Given the description of an element on the screen output the (x, y) to click on. 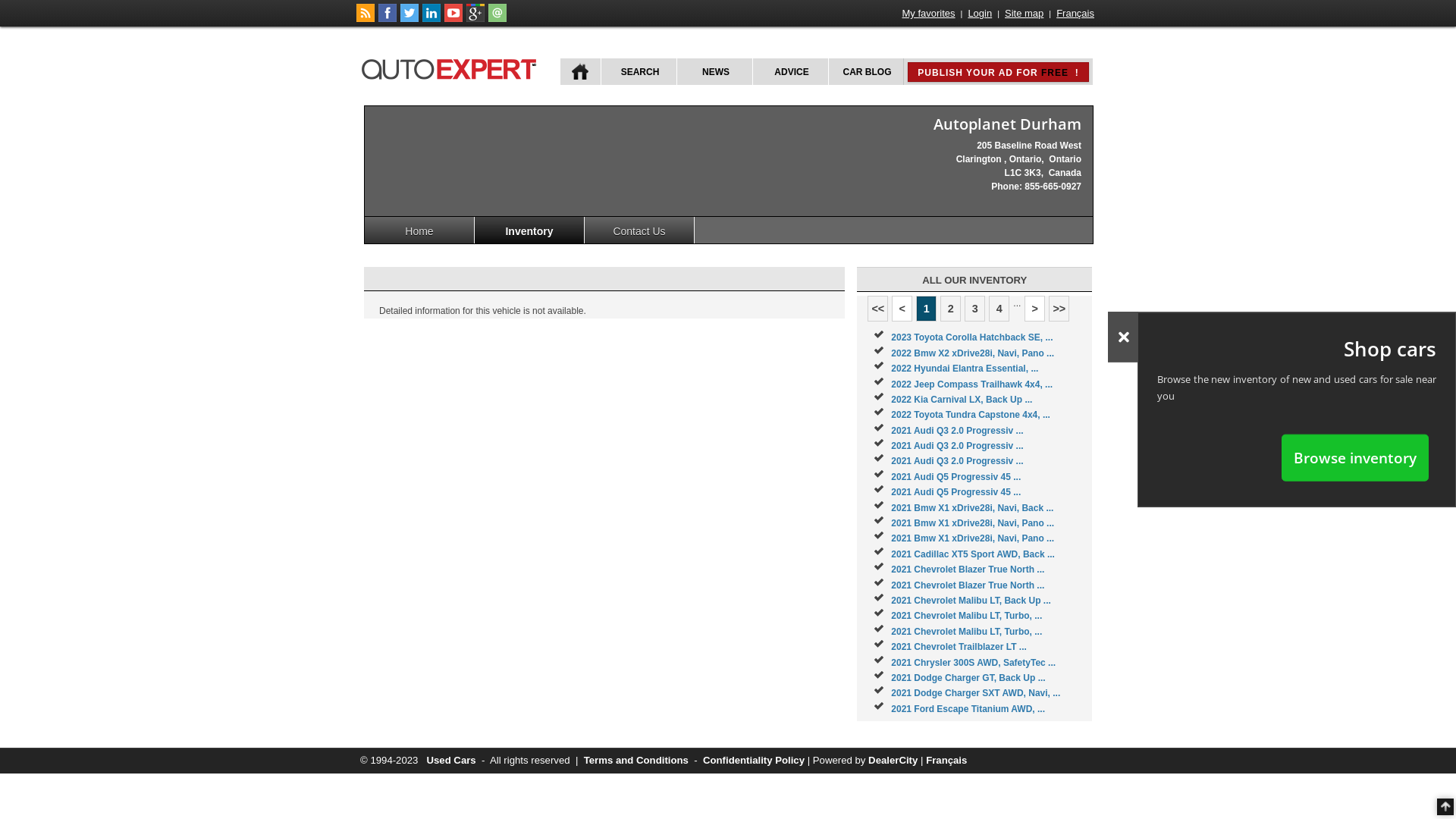
SEARCH Element type: text (638, 71)
2021 Cadillac XT5 Sport AWD, Back ... Element type: text (972, 554)
2021 Audi Q3 2.0 Progressiv ... Element type: text (956, 460)
Follow Publications Le Guide Inc. on LinkedIn Element type: hover (431, 18)
2021 Dodge Charger GT, Back Up ... Element type: text (967, 677)
Confidentiality Policy Element type: text (753, 759)
2021 Audi Q5 Progressiv 45 ... Element type: text (955, 476)
Follow autoExpert.ca on Twitter Element type: hover (409, 18)
2023 Toyota Corolla Hatchback SE, ... Element type: text (971, 337)
autoExpert.ca Element type: text (451, 66)
Follow car news on autoExpert.ca Element type: hover (365, 18)
Contact autoExpert.ca Element type: hover (497, 18)
2021 Chevrolet Malibu LT, Turbo, ... Element type: text (966, 615)
2021 Bmw X1 xDrive28i, Navi, Pano ... Element type: text (972, 538)
2021 Audi Q5 Progressiv 45 ... Element type: text (955, 491)
<< Element type: text (877, 308)
Home Element type: text (419, 229)
Follow autoExpert.ca on Youtube Element type: hover (453, 18)
PUBLISH YOUR AD FOR FREE  ! Element type: text (997, 71)
Contact Us Element type: text (639, 229)
Browse inventory Element type: text (1354, 457)
2021 Audi Q3 2.0 Progressiv ... Element type: text (956, 430)
2022 Jeep Compass Trailhawk 4x4, ... Element type: text (971, 384)
HOME Element type: text (580, 71)
DealerCity Element type: text (892, 759)
Login Element type: text (979, 13)
Follow autoExpert.ca on Google Plus Element type: hover (475, 18)
< Element type: text (901, 308)
2021 Ford Escape Titanium AWD, ... Element type: text (967, 708)
2022 Bmw X2 xDrive28i, Navi, Pano ... Element type: text (972, 353)
2021 Chevrolet Blazer True North ... Element type: text (967, 569)
2022 Hyundai Elantra Essential, ... Element type: text (964, 368)
Site map Element type: text (1023, 13)
CAR BLOG Element type: text (865, 71)
1 Element type: text (926, 308)
NEWS Element type: text (714, 71)
2 Element type: text (950, 308)
2021 Audi Q3 2.0 Progressiv ... Element type: text (956, 445)
2021 Chrysler 300S AWD, SafetyTec ... Element type: text (973, 662)
ADVICE Element type: text (790, 71)
My favorites Element type: text (928, 13)
2021 Chevrolet Trailblazer LT ... Element type: text (958, 646)
> Element type: text (1034, 308)
Follow autoExpert.ca on Facebook Element type: hover (387, 18)
2021 Bmw X1 xDrive28i, Navi, Back ... Element type: text (972, 507)
2021 Dodge Charger SXT AWD, Navi, ... Element type: text (975, 692)
2021 Chevrolet Malibu LT, Back Up ... Element type: text (971, 600)
Inventory Element type: text (529, 229)
3 Element type: text (974, 308)
2021 Chevrolet Blazer True North ... Element type: text (967, 585)
2022 Toyota Tundra Capstone 4x4, ... Element type: text (970, 414)
4 Element type: text (998, 308)
2021 Chevrolet Malibu LT, Turbo, ... Element type: text (966, 631)
>> Element type: text (1058, 308)
Terms and Conditions Element type: text (635, 759)
2021 Bmw X1 xDrive28i, Navi, Pano ... Element type: text (972, 522)
2022 Kia Carnival LX, Back Up ... Element type: text (961, 399)
Used Cars Element type: text (450, 759)
